Given the description of an element on the screen output the (x, y) to click on. 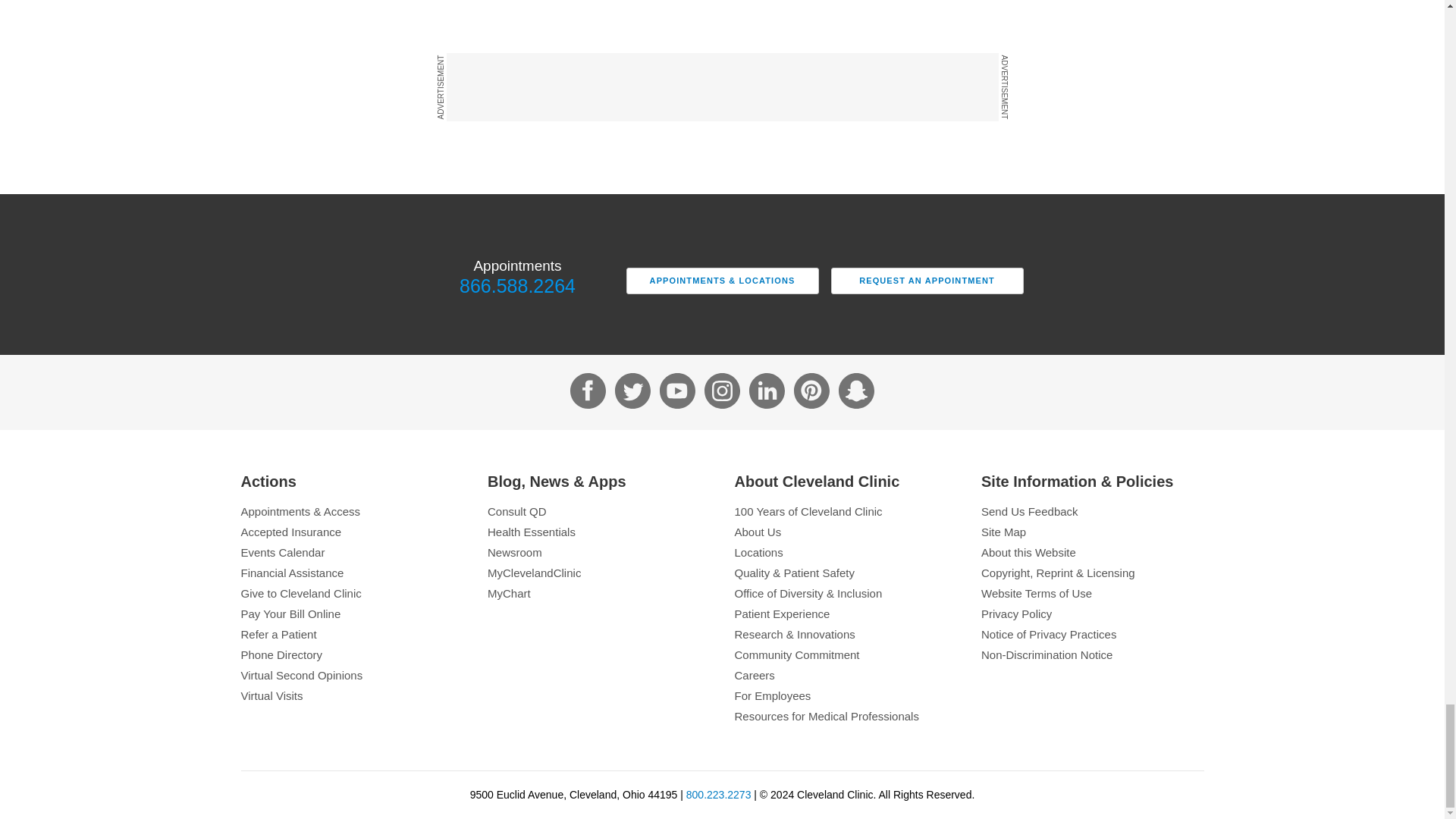
Health Essentials (598, 531)
Careers (844, 674)
Accepted Insurance (352, 531)
Phone Directory (352, 654)
Consult QD (598, 511)
Send Us Feedback (1092, 511)
Newsroom (598, 552)
Pay Your Bill (352, 613)
Appointments (352, 511)
